Given the description of an element on the screen output the (x, y) to click on. 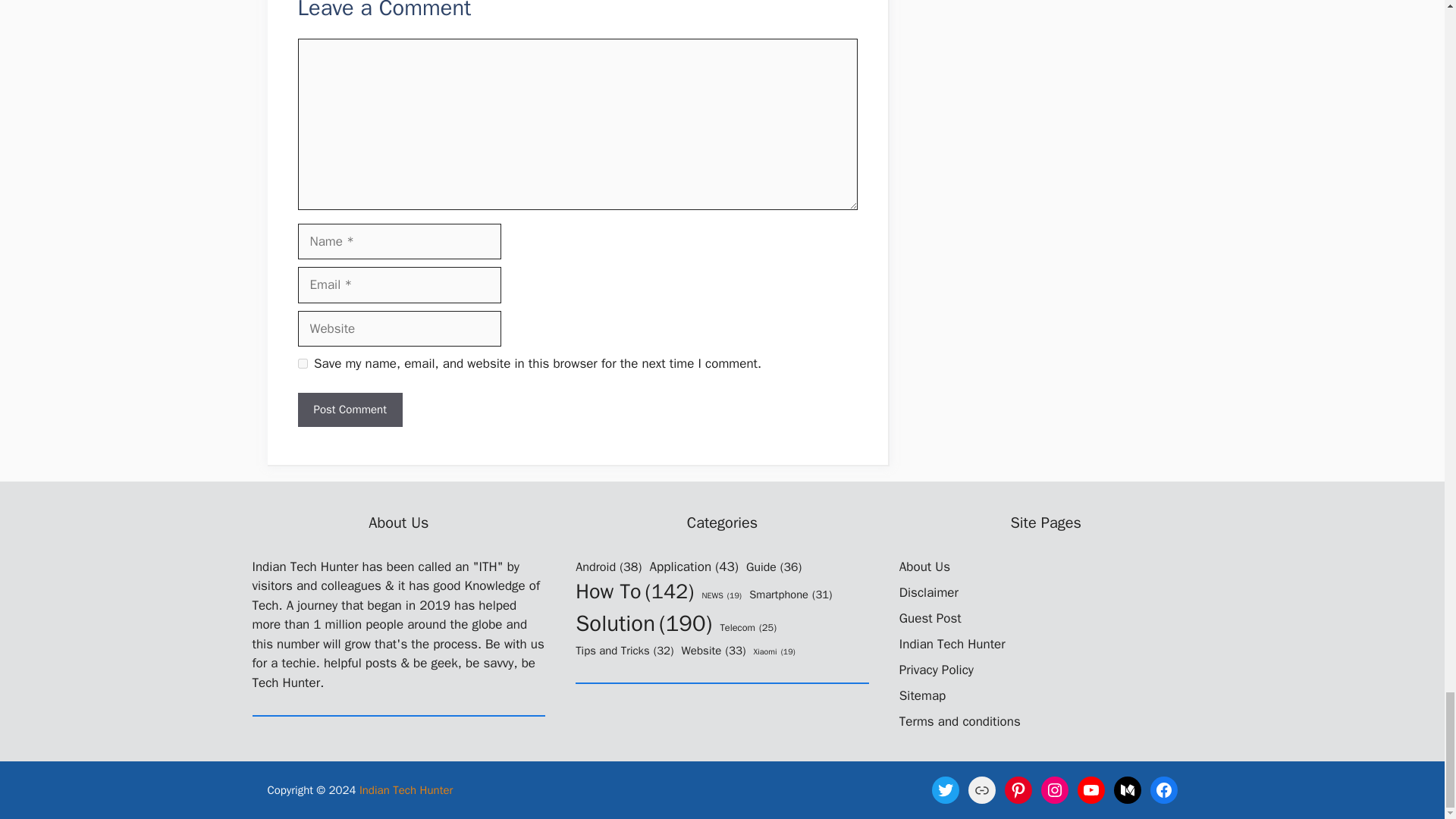
Post Comment (349, 409)
yes (302, 363)
